Given the description of an element on the screen output the (x, y) to click on. 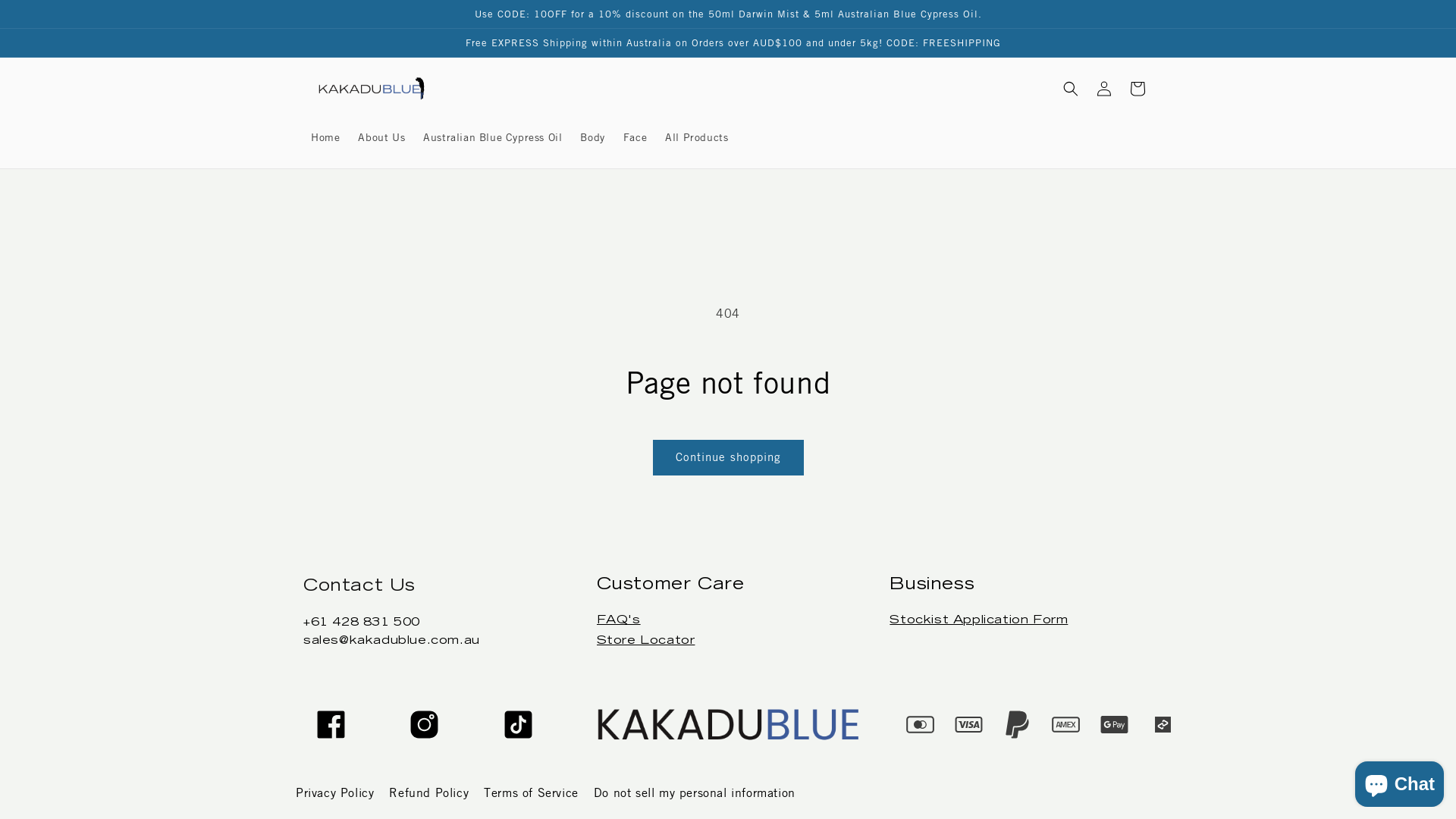
Cart Element type: text (1137, 88)
Refund Policy Element type: text (428, 792)
Shopify online store chat Element type: hover (1399, 780)
Log in Element type: text (1103, 88)
Do not sell my personal information Element type: text (694, 792)
Face Element type: text (634, 137)
facebook Element type: hover (330, 724)
Continue shopping Element type: text (727, 457)
Home Element type: text (324, 137)
Store Locator Element type: text (645, 640)
Privacy Policy Element type: text (334, 792)
Stockist Application Form Element type: text (978, 620)
Terms of Service Element type: text (531, 792)
Tiktok Element type: hover (517, 724)
Instragram Element type: hover (423, 724)
All Products Element type: text (696, 137)
FAQ's Element type: text (618, 620)
Body Element type: text (592, 137)
About Us Element type: text (381, 137)
Australian Blue Cypress Oil Element type: text (492, 137)
